Given the description of an element on the screen output the (x, y) to click on. 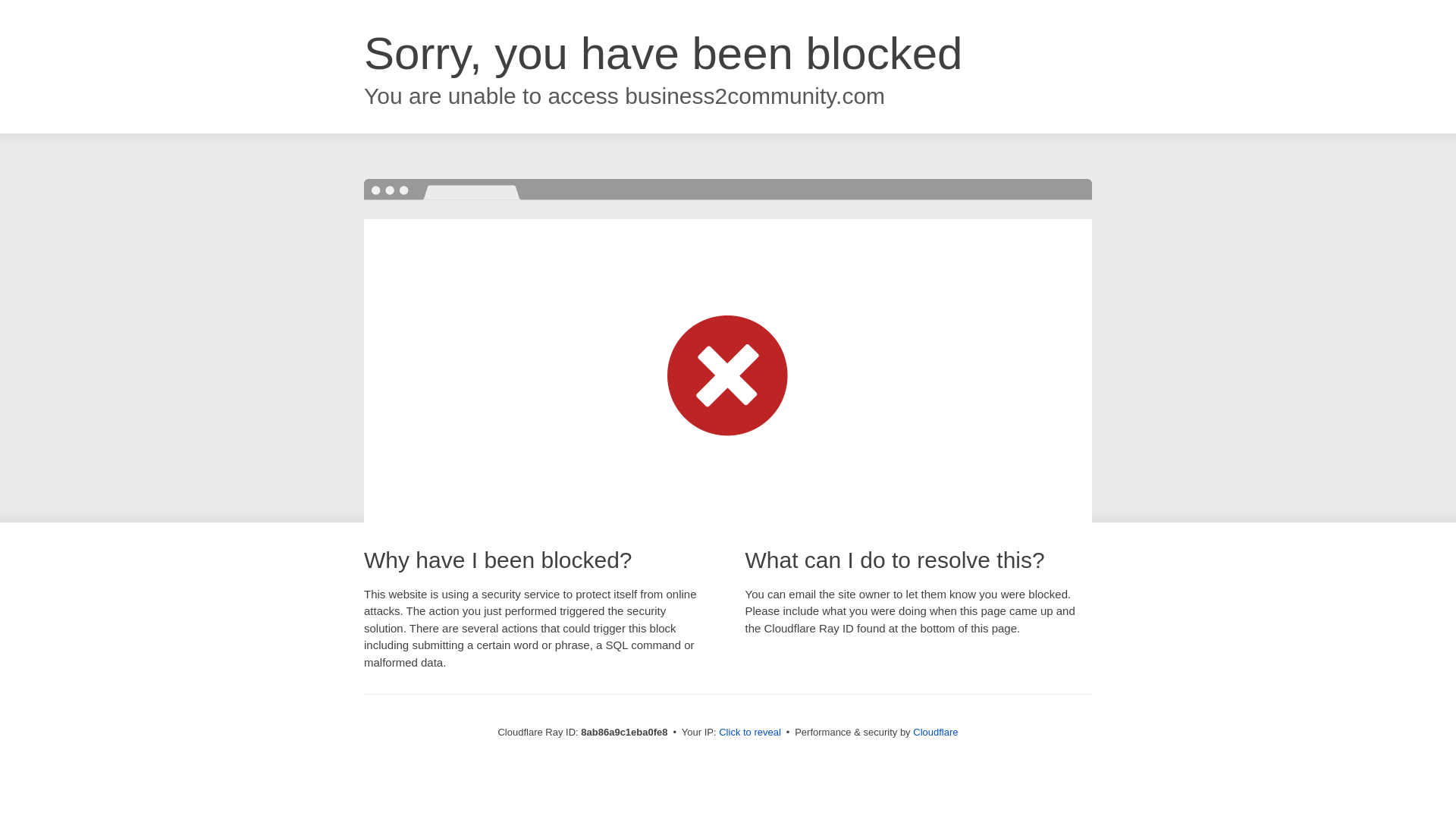
Click to reveal (749, 732)
Cloudflare (935, 731)
